Given the description of an element on the screen output the (x, y) to click on. 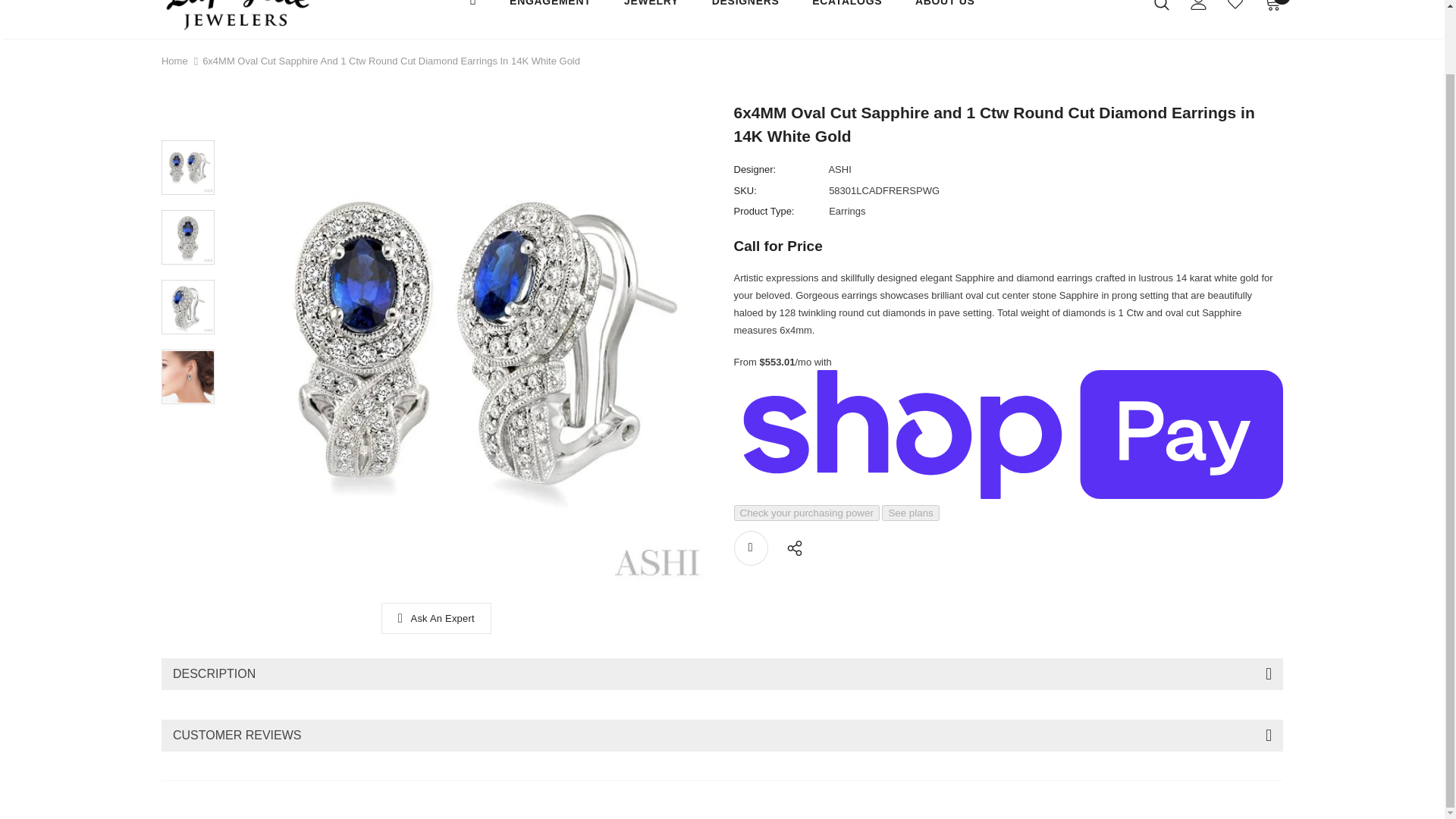
ABOUT US (945, 13)
ECATALOGS (847, 13)
ENGAGEMENT (550, 13)
JEWELRY (651, 13)
DESIGNERS (744, 13)
